Given the description of an element on the screen output the (x, y) to click on. 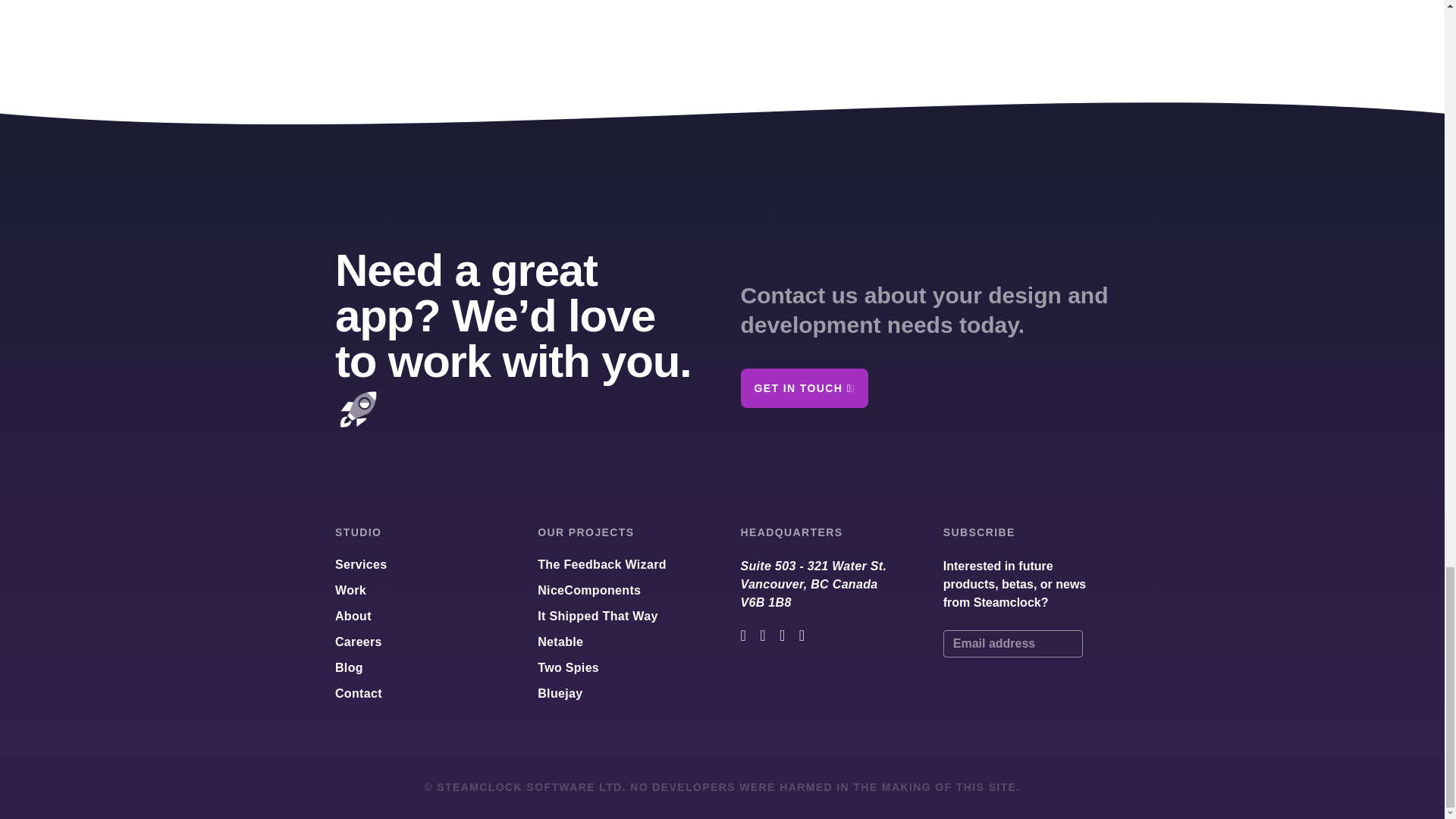
Two Spies (567, 668)
Work (350, 590)
Services (360, 565)
About (352, 617)
It Shipped That Way (597, 617)
Blog (348, 668)
NiceComponents (588, 590)
Contact (357, 694)
The Feedback Wizard (601, 565)
Careers (357, 642)
Bluejay (822, 584)
Netable (559, 694)
GET IN TOUCH (560, 642)
